Given the description of an element on the screen output the (x, y) to click on. 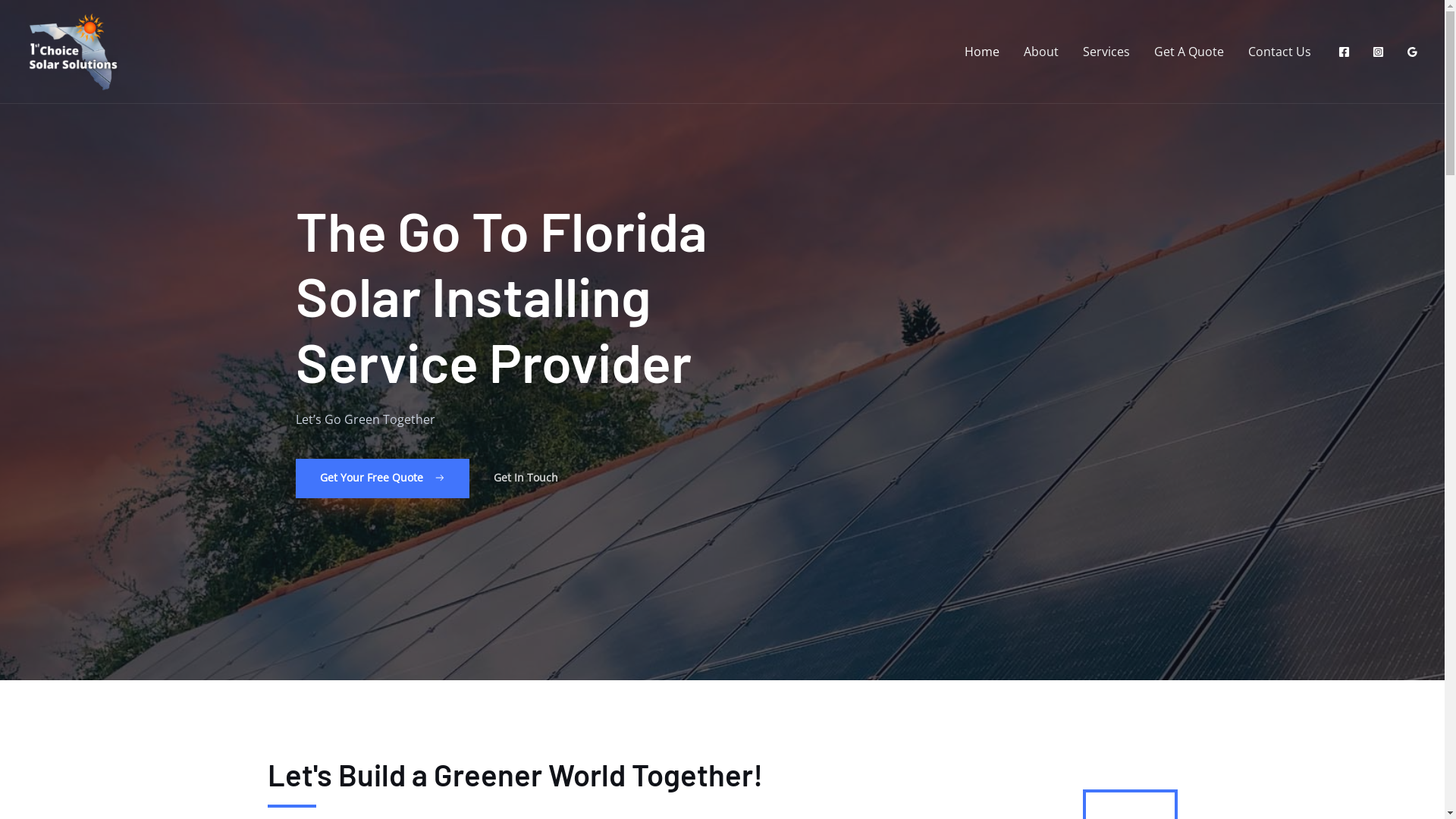
Services Element type: text (1106, 51)
About Element type: text (1040, 51)
Get A Quote Element type: text (1189, 51)
Get In Touch Element type: text (525, 477)
Home Element type: text (981, 51)
Contact Us Element type: text (1279, 51)
Get Your Free Quote Element type: text (382, 478)
